Given the description of an element on the screen output the (x, y) to click on. 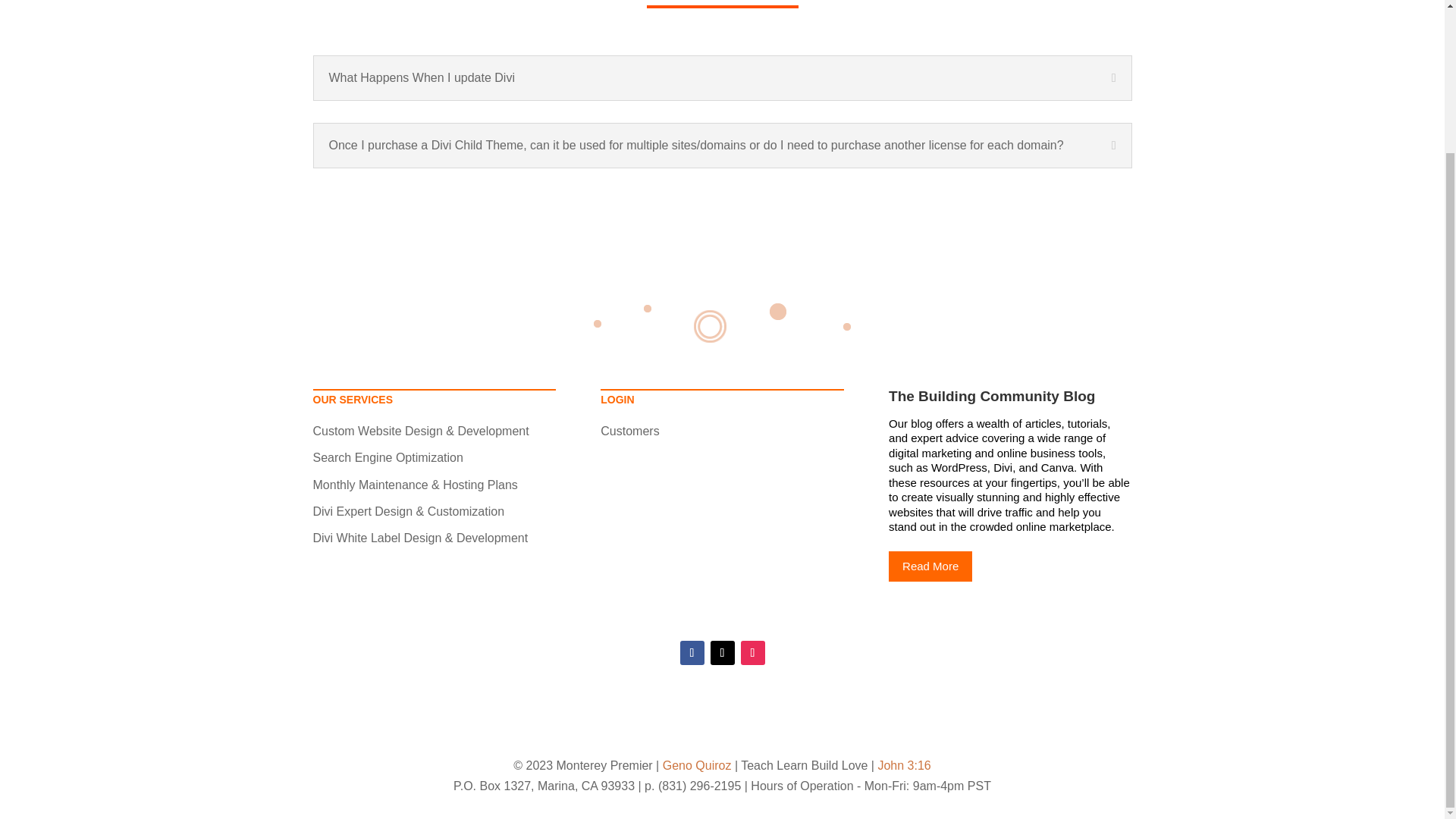
Follow on Twitter (721, 652)
Follow on Instagram (751, 652)
Search Engine Optimization (388, 457)
Divi Expert Consulting (408, 511)
Follow on Facebook (691, 652)
